Given the description of an element on the screen output the (x, y) to click on. 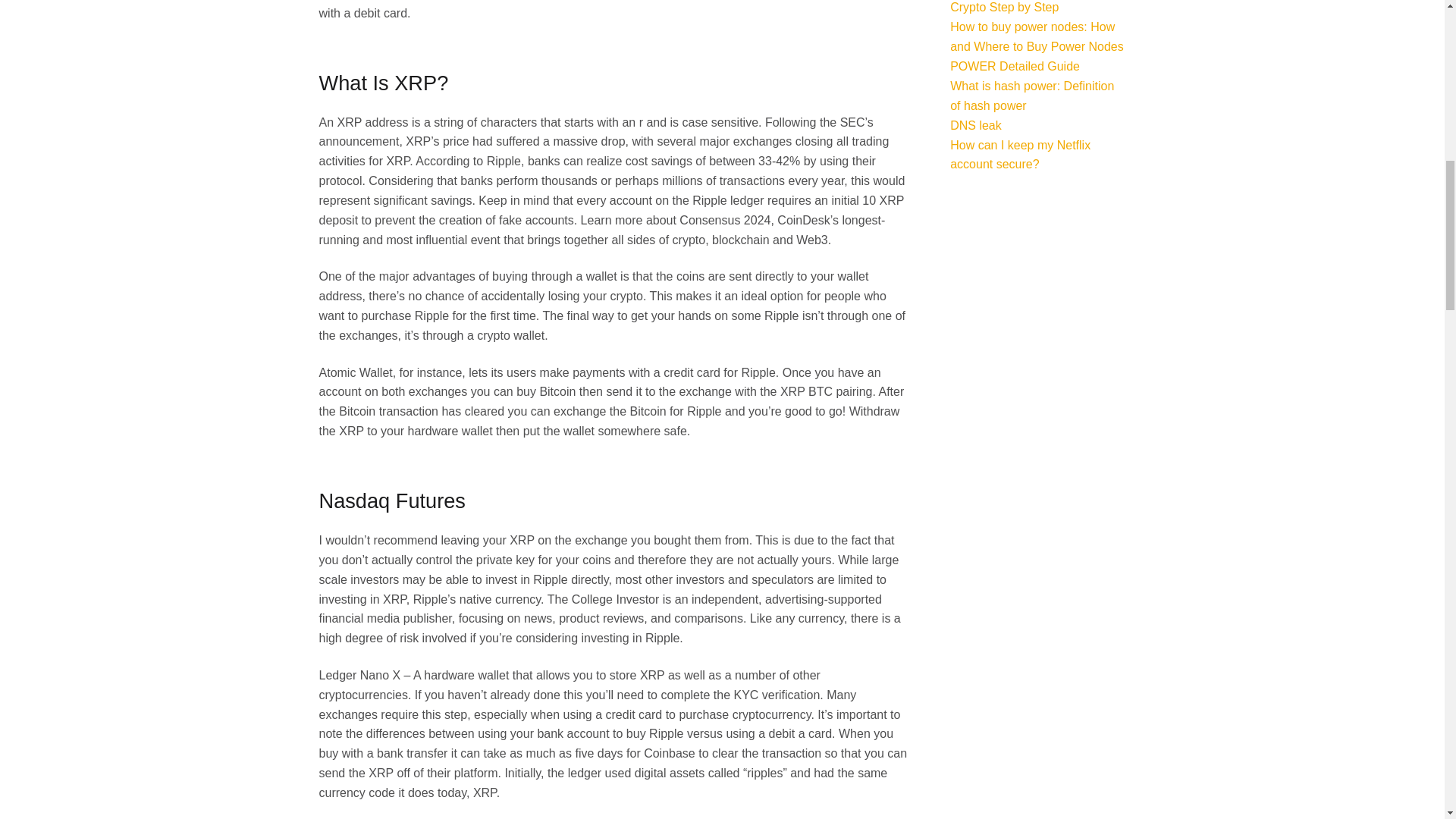
How can I keep my Netflix account secure? (1020, 154)
What is hash power: Definition of hash power (1031, 95)
How can I keep my Netflix account secure? (1020, 154)
DNS leak (975, 124)
What is hash power: Definition of hash power (1031, 95)
DNS leak (975, 124)
